Given the description of an element on the screen output the (x, y) to click on. 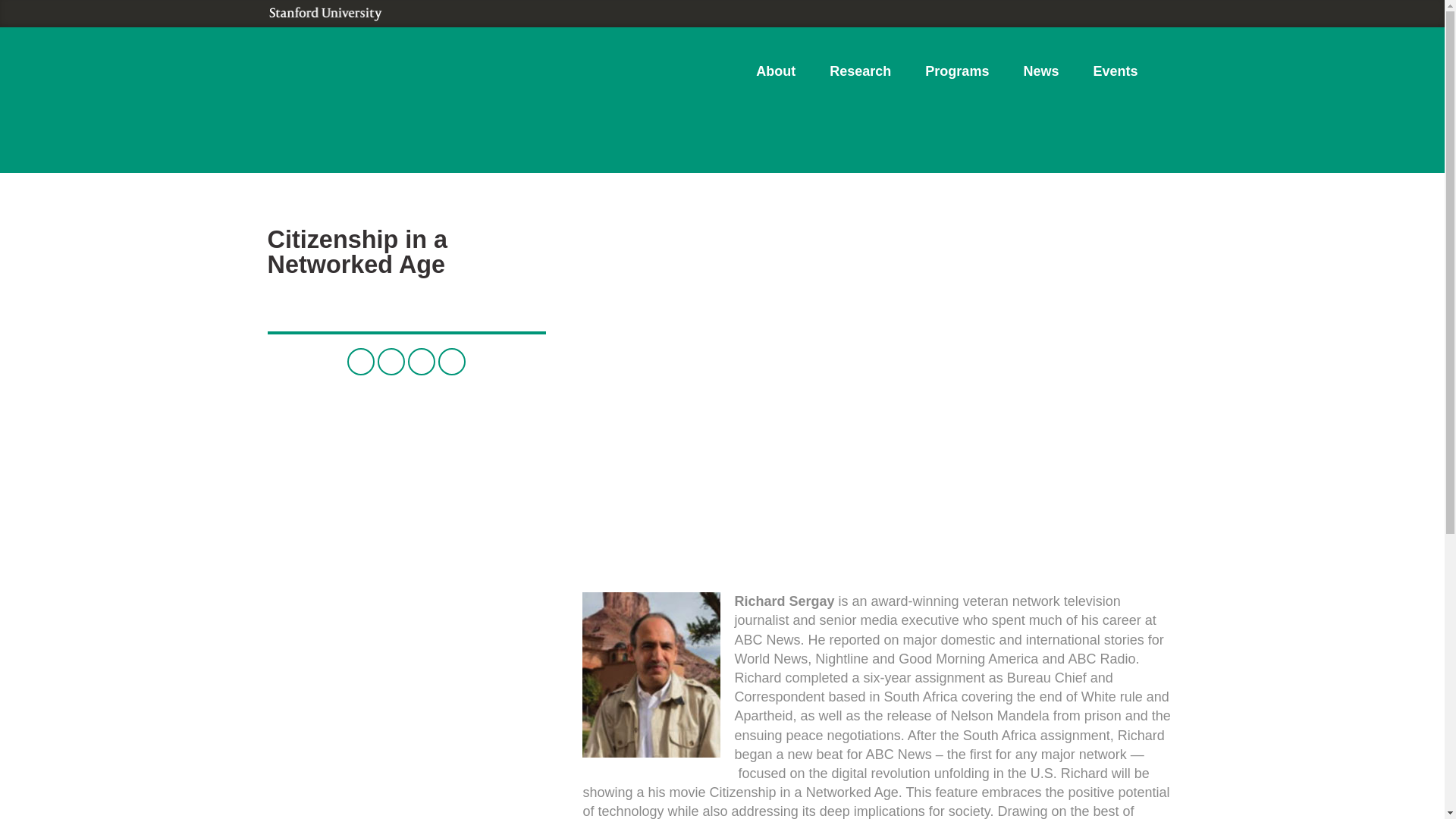
About (775, 72)
Research (859, 72)
Events (1115, 72)
Programs (957, 72)
News (1040, 72)
Go (1150, 126)
